Given the description of an element on the screen output the (x, y) to click on. 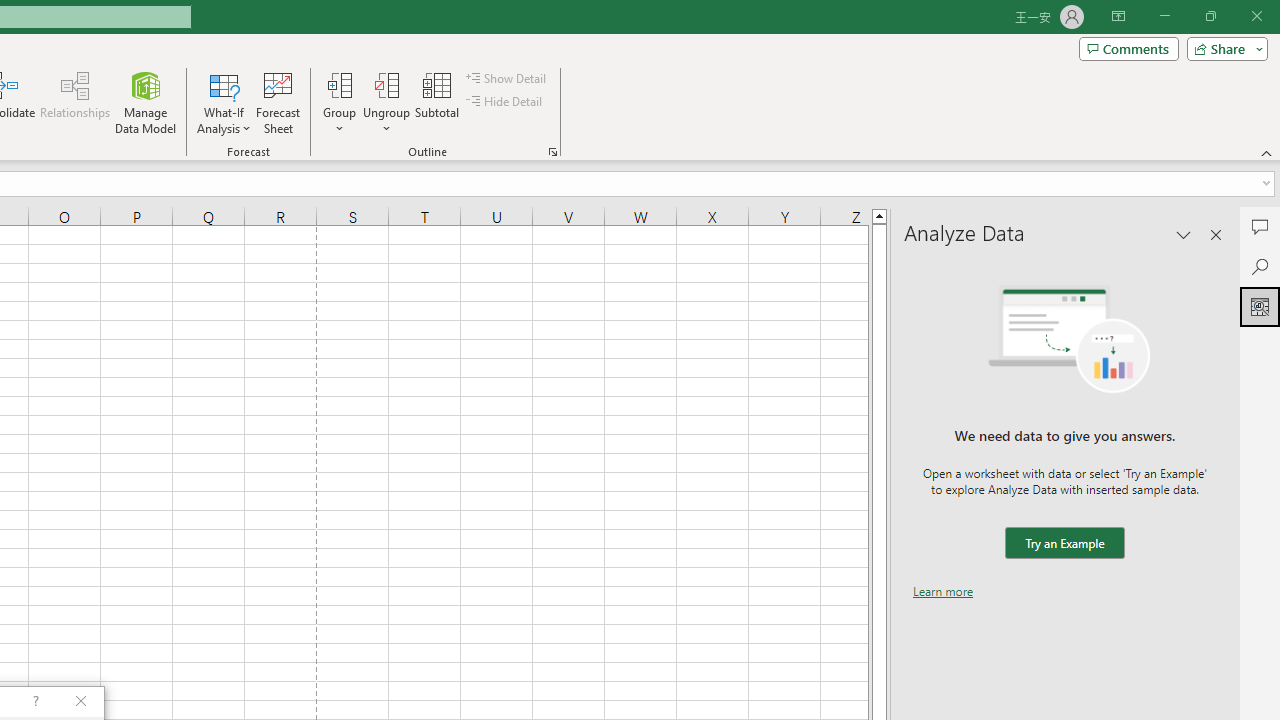
Task Pane Options (1183, 234)
Hide Detail (505, 101)
Close pane (1215, 234)
Group... (339, 84)
Restore Down (1210, 16)
Manage Data Model (145, 102)
Learn more (943, 591)
Relationships (75, 102)
Search (1260, 266)
Forecast Sheet (278, 102)
Ungroup... (386, 84)
